Given the description of an element on the screen output the (x, y) to click on. 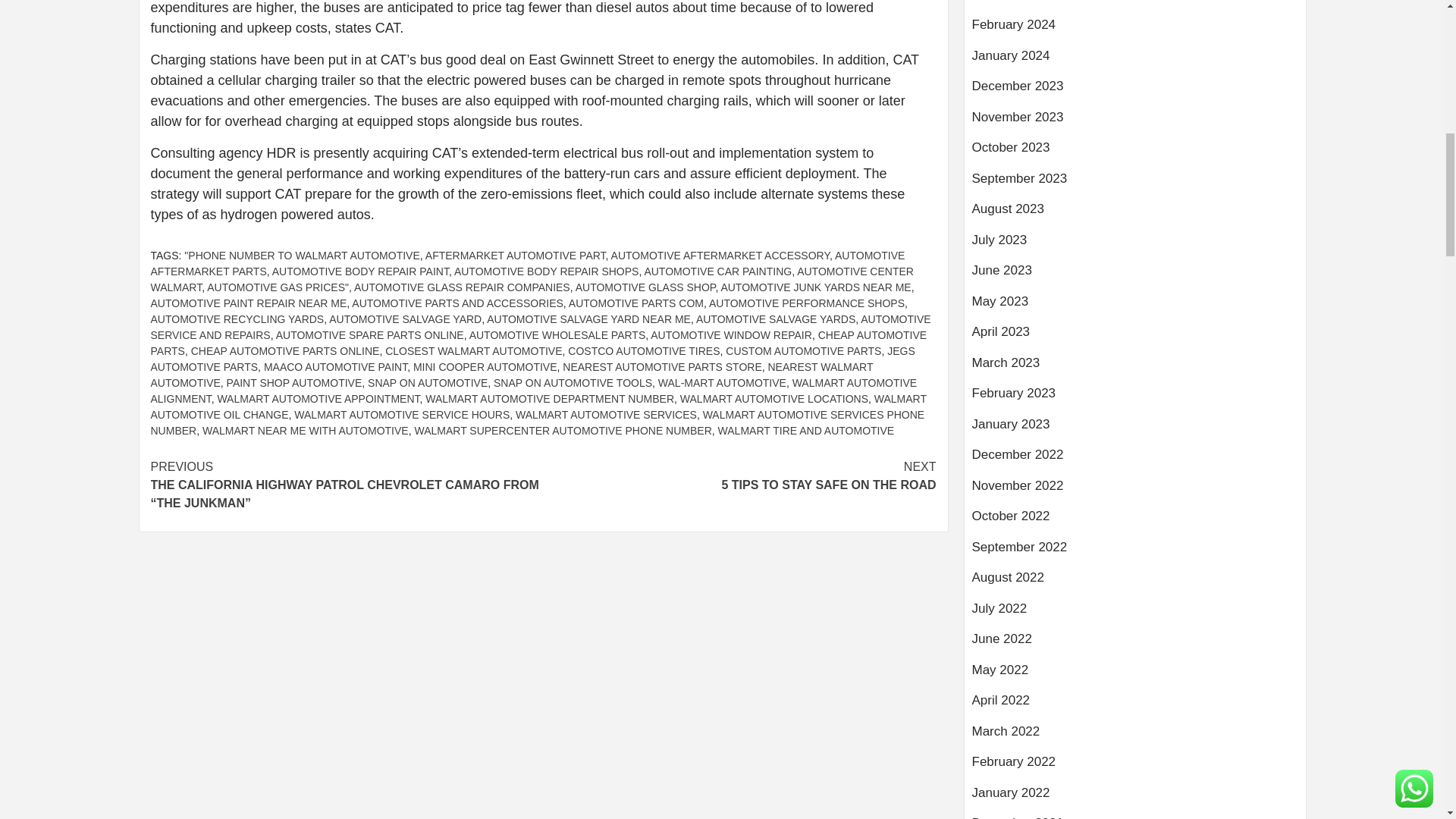
AUTOMOTIVE BODY REPAIR SHOPS (546, 271)
AUTOMOTIVE PARTS COM (636, 303)
AUTOMOTIVE PARTS AND ACCESSORIES (457, 303)
AUTOMOTIVE AFTERMARKET ACCESSORY (720, 255)
AUTOMOTIVE CAR PAINTING (717, 271)
AUTOMOTIVE SALVAGE YARD NEAR ME (588, 318)
AUTOMOTIVE AFTERMARKET PARTS (526, 263)
AUTOMOTIVE BODY REPAIR PAINT (360, 271)
AUTOMOTIVE GLASS SHOP (645, 287)
AUTOMOTIVE GAS PRICES" (277, 287)
